Given the description of an element on the screen output the (x, y) to click on. 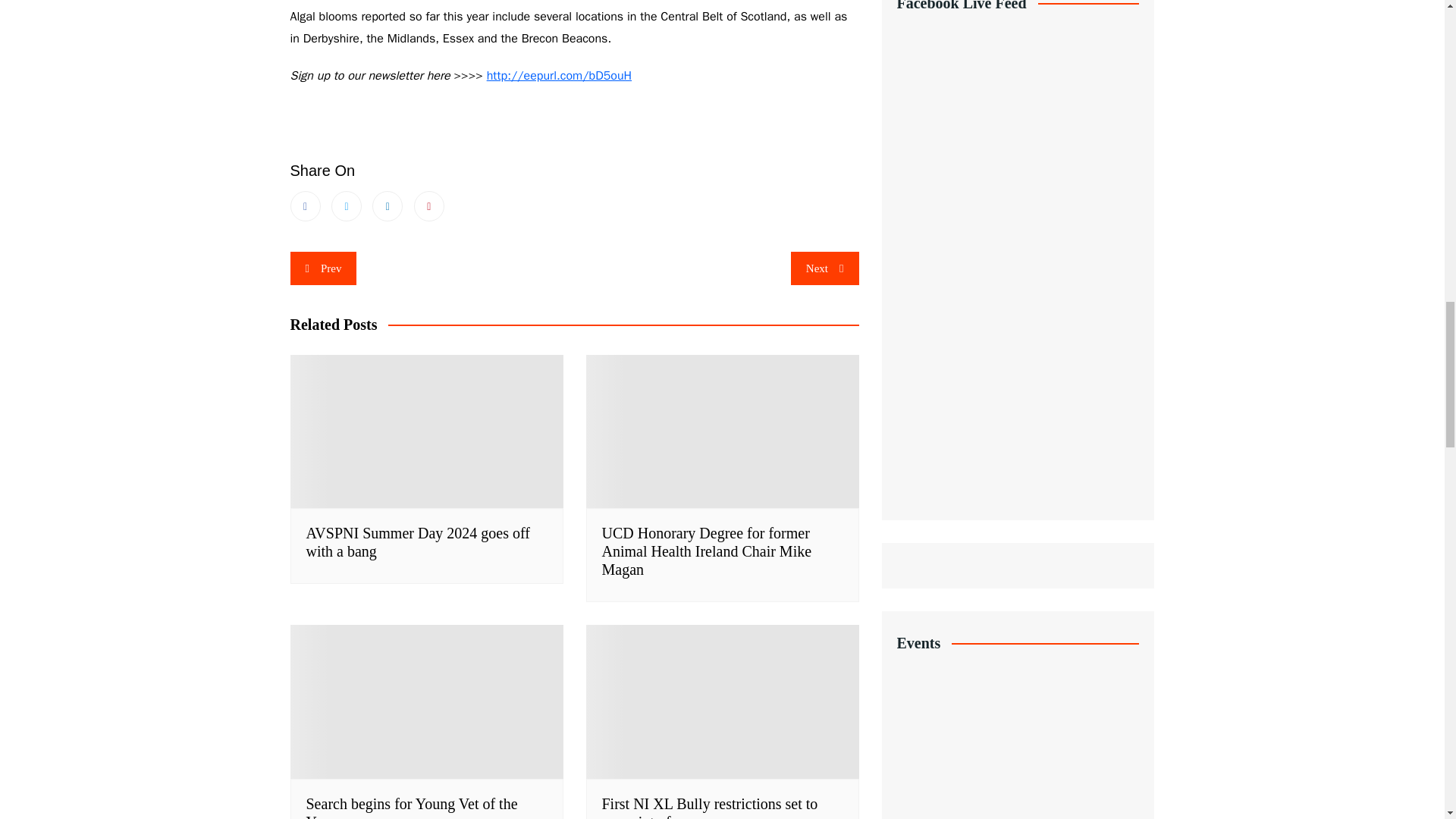
Events (1017, 714)
